Given the description of an element on the screen output the (x, y) to click on. 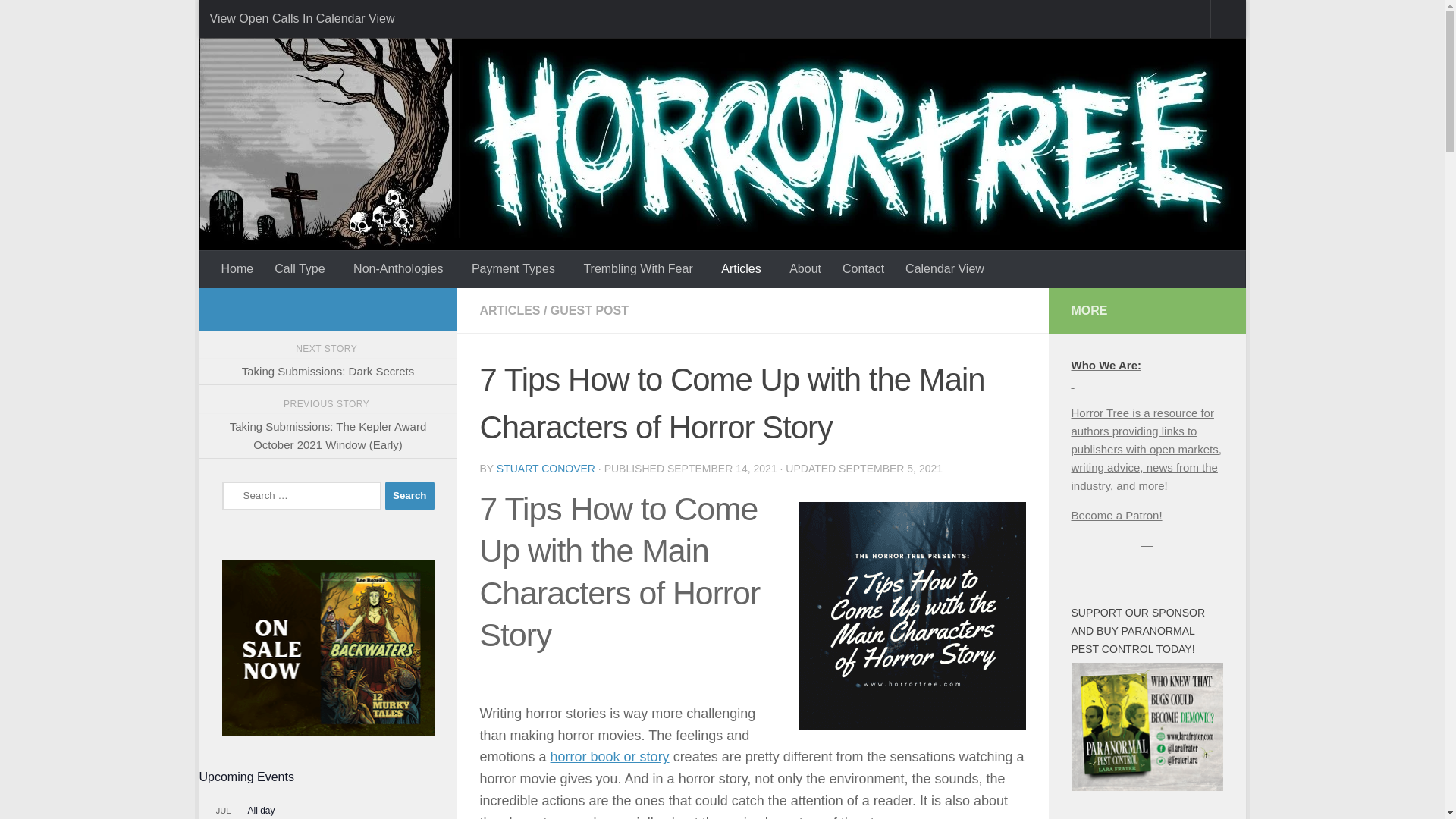
Posts by Stuart Conover (545, 468)
Search (409, 495)
View Open Calls In Calendar View (301, 18)
Search (409, 495)
Skip to content (263, 20)
